Given the description of an element on the screen output the (x, y) to click on. 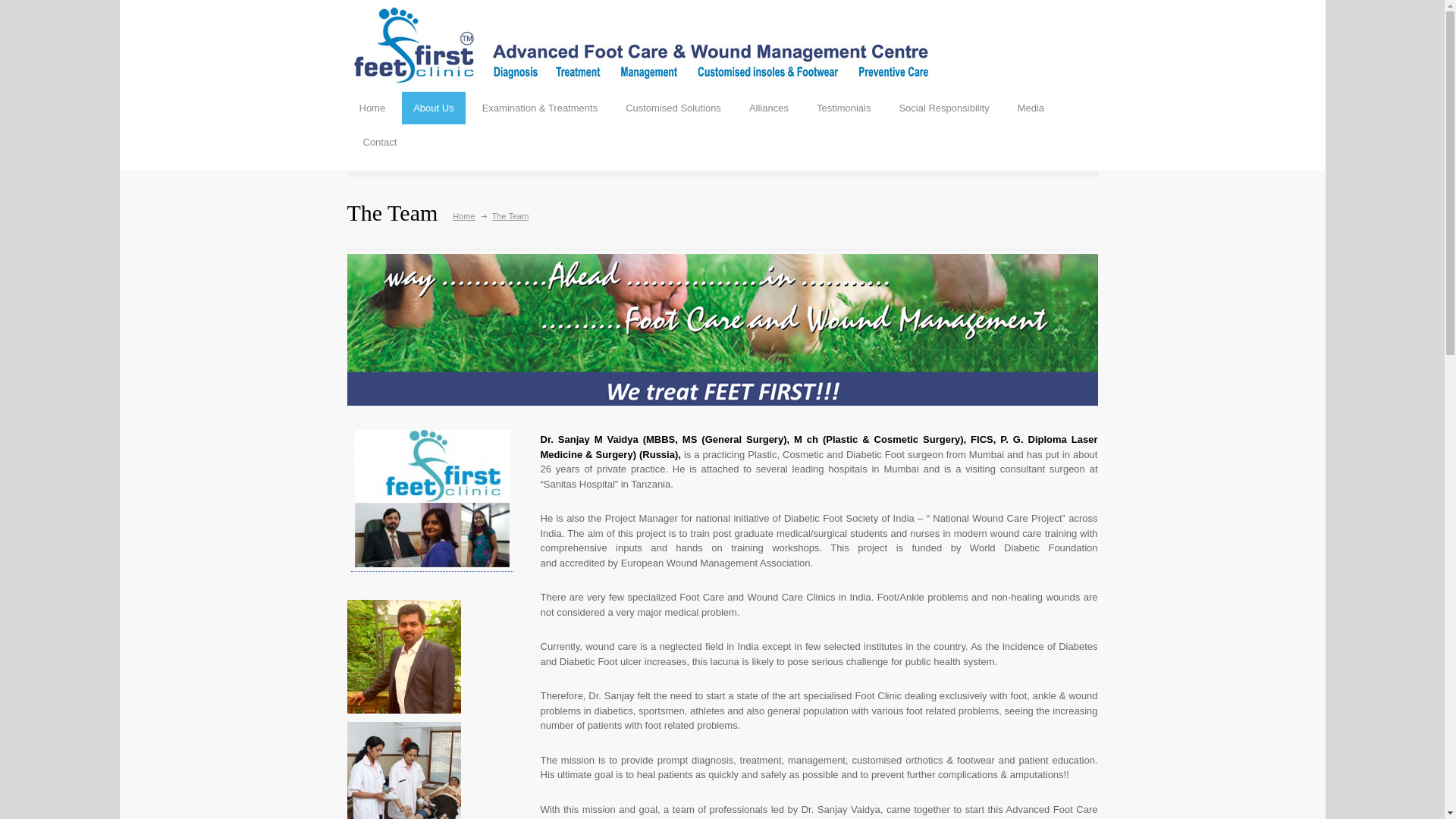
About Us (433, 107)
Home (463, 215)
Home (372, 107)
